Given the description of an element on the screen output the (x, y) to click on. 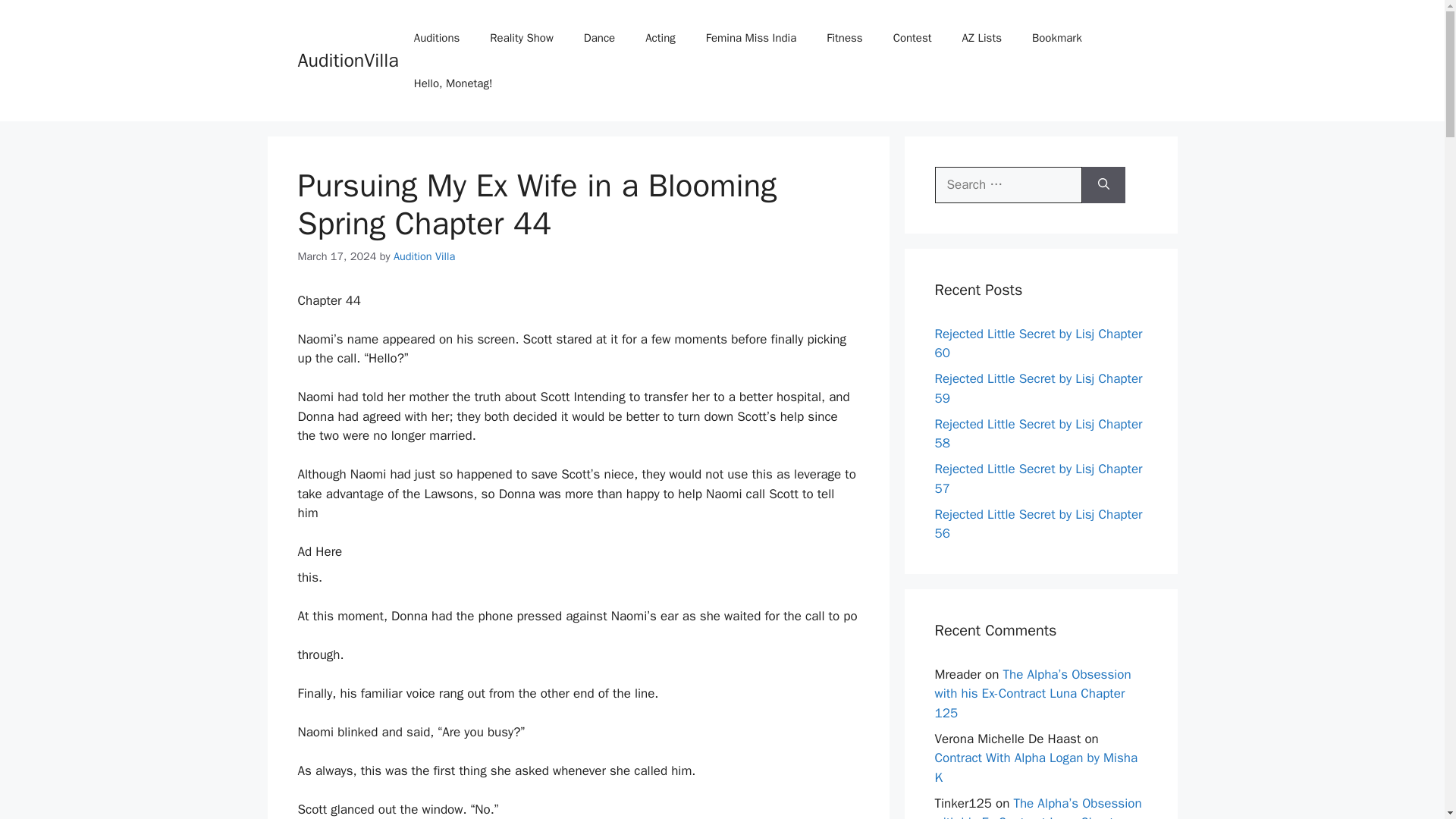
Auditions (437, 37)
AZ Lists (981, 37)
Bookmark (1056, 37)
Acting (660, 37)
Contest (912, 37)
Reality Show (521, 37)
Fitness (843, 37)
Rejected Little Secret by Lisj Chapter 60 (1037, 343)
AuditionVilla (347, 60)
Search for: (1007, 185)
